Given the description of an element on the screen output the (x, y) to click on. 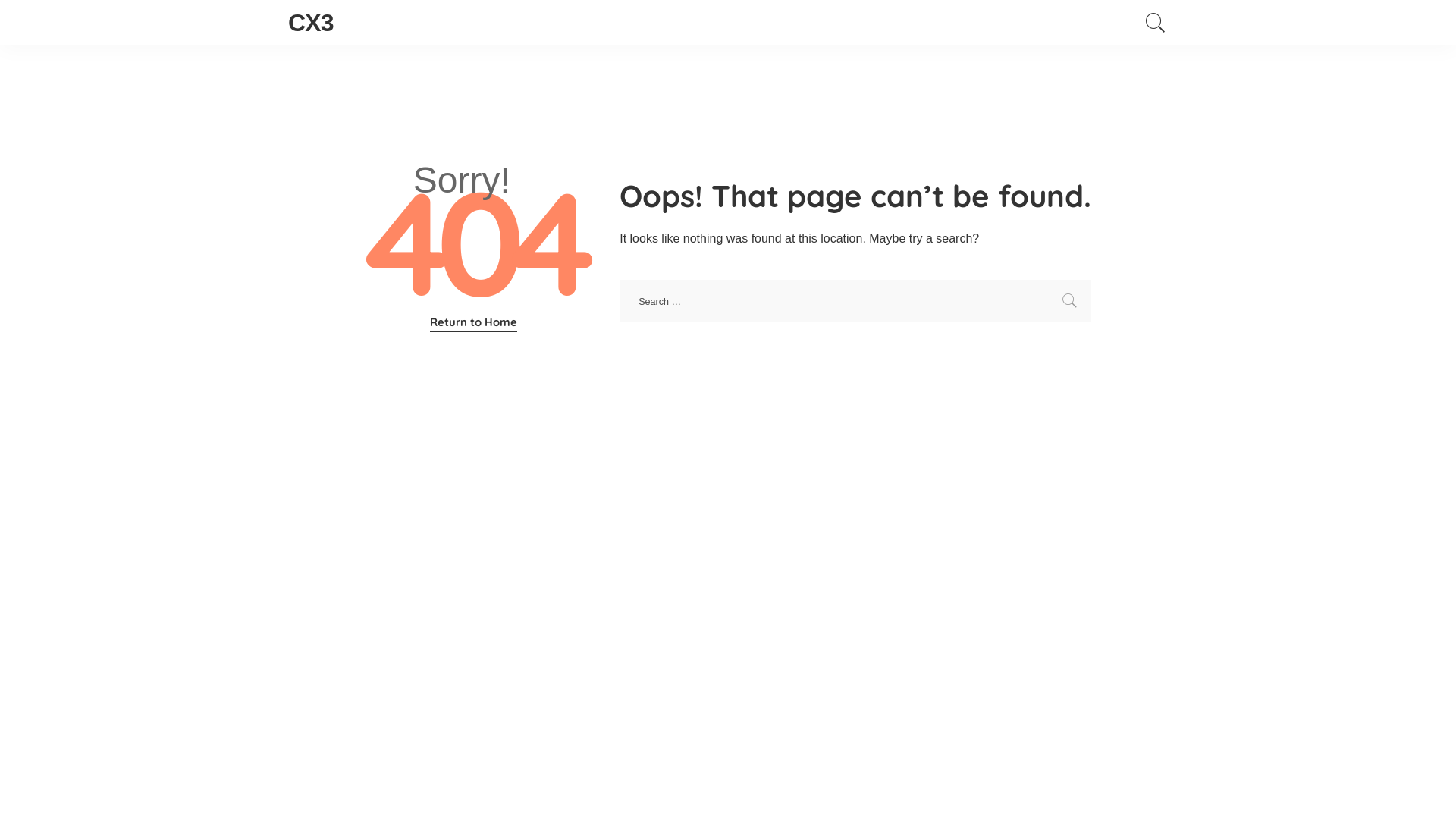
CX3 Element type: text (310, 22)
Search Element type: text (1146, 76)
Search Element type: hover (1155, 22)
Search Element type: text (1069, 300)
Return to Home Element type: text (472, 322)
